Given the description of an element on the screen output the (x, y) to click on. 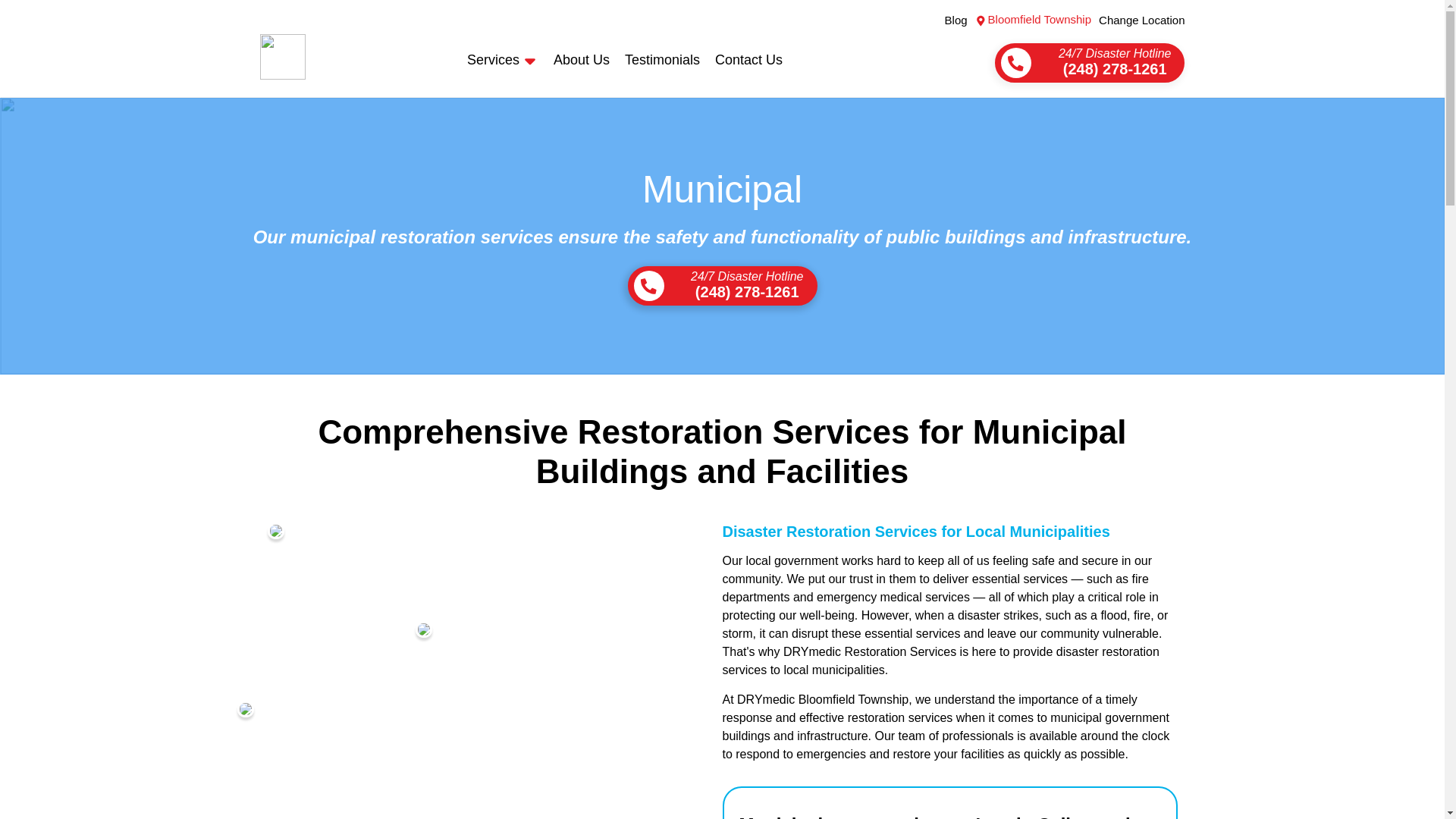
Change Location (1142, 19)
Blog (956, 19)
Contact Us (748, 58)
Testimonials (662, 58)
Services (493, 60)
About Us (581, 58)
